Given the description of an element on the screen output the (x, y) to click on. 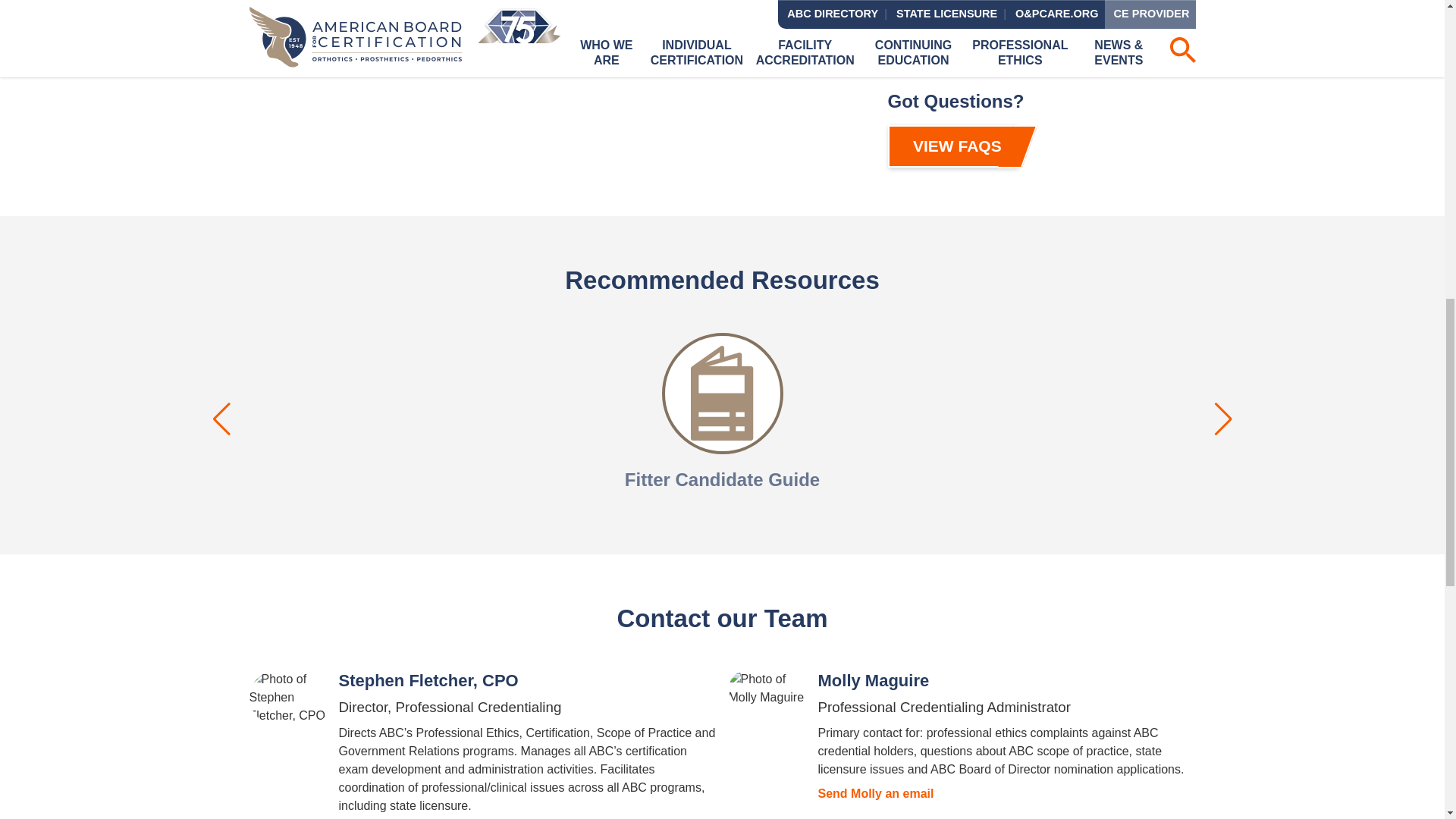
icon-faq (1041, 68)
